Given the description of an element on the screen output the (x, y) to click on. 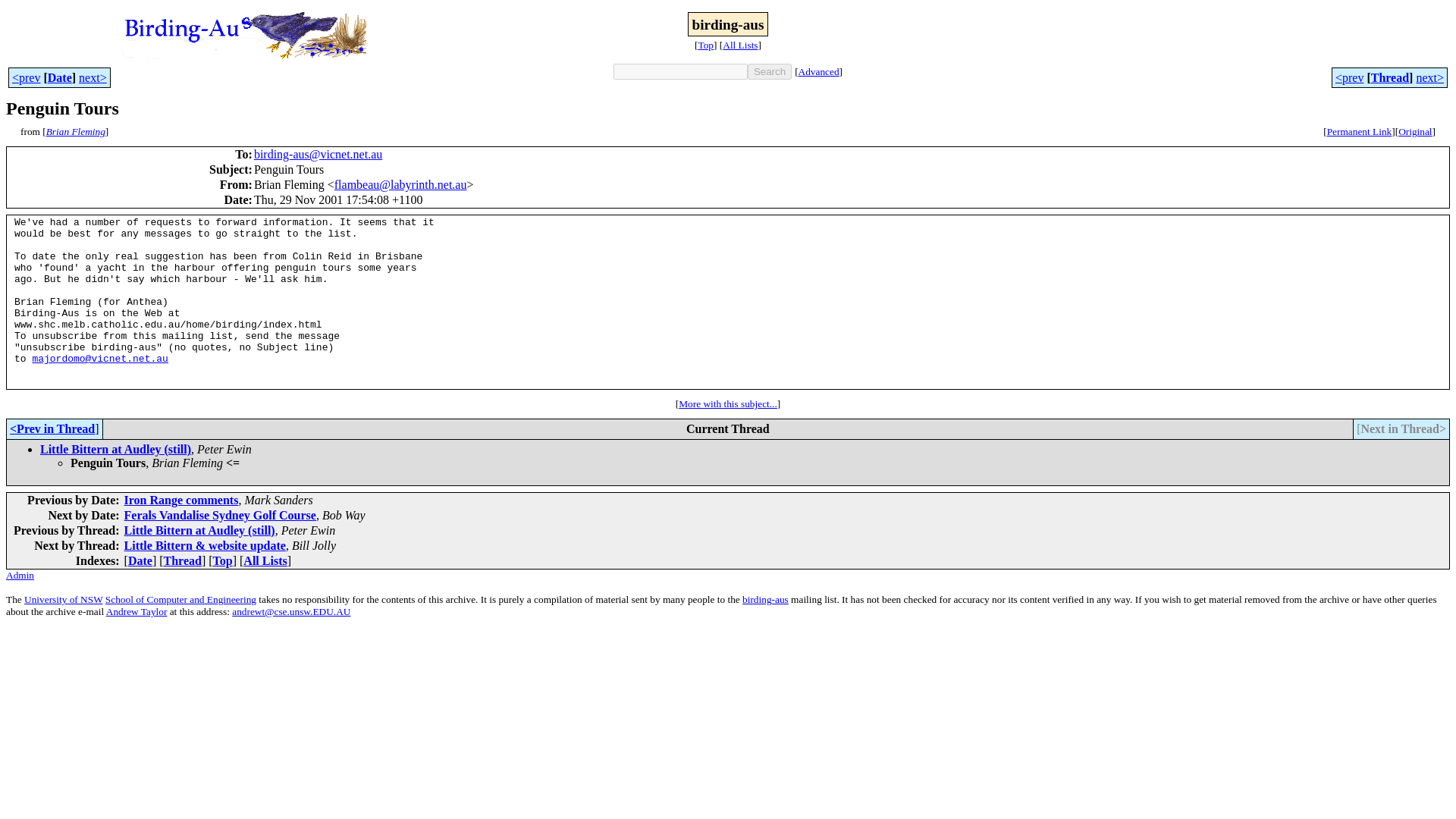
All Lists (739, 44)
Admin (19, 574)
Date (59, 77)
University of NSW (62, 599)
Thread (1390, 77)
birding-aus (765, 599)
Brian Fleming (75, 131)
Top (222, 560)
Advanced (818, 71)
School of Computer and Engineering (180, 599)
Search (770, 71)
More with this subject... (727, 403)
All Lists (264, 560)
Top (705, 44)
Iron Range comments (180, 499)
